Given the description of an element on the screen output the (x, y) to click on. 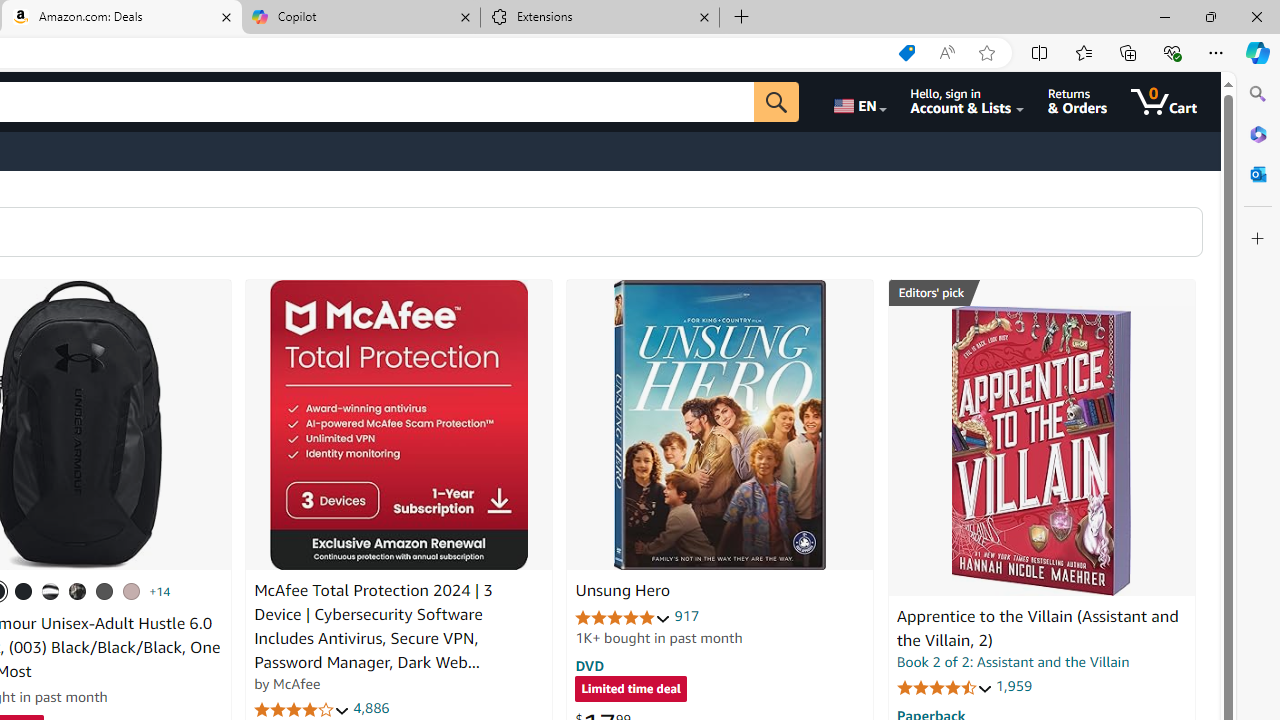
1,959 (1013, 686)
New Tab (742, 17)
4.1 out of 5 stars (301, 709)
